Given the description of an element on the screen output the (x, y) to click on. 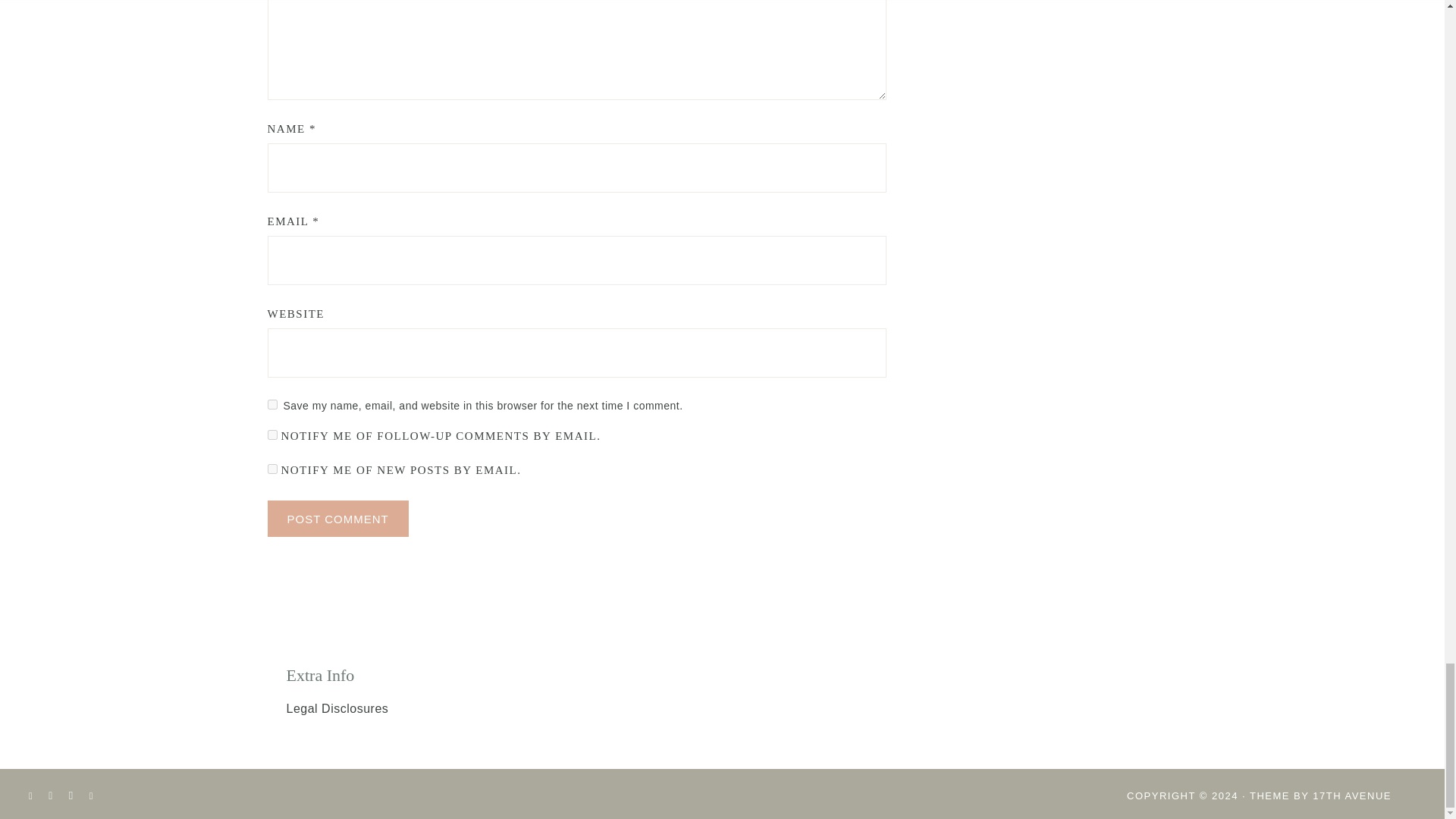
subscribe (271, 434)
yes (271, 404)
Post Comment (336, 518)
subscribe (271, 469)
